Given the description of an element on the screen output the (x, y) to click on. 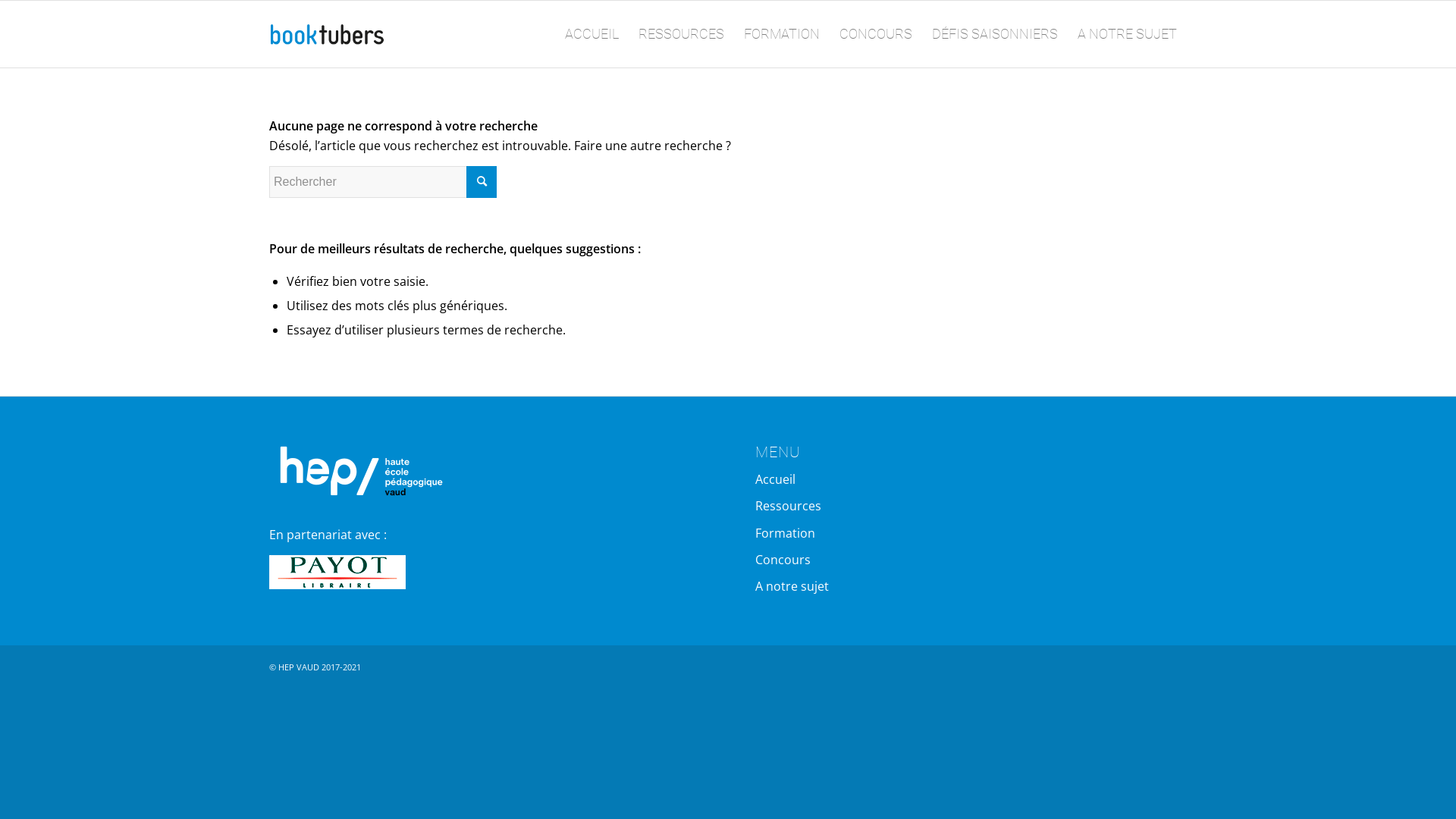
RESSOURCES Element type: text (681, 33)
FORMATION Element type: text (781, 33)
Accueil Element type: text (970, 479)
Payot Element type: hover (337, 572)
CONCOURS Element type: text (875, 33)
Ressources Element type: text (970, 505)
Concours Element type: text (970, 559)
A NOTRE SUJET Element type: text (1126, 33)
Formation Element type: text (970, 533)
ACCUEIL Element type: text (591, 33)
A notre sujet Element type: text (970, 586)
booktubers_logo_couleur Element type: hover (327, 33)
HEP Vaud Element type: hover (356, 469)
